Given the description of an element on the screen output the (x, y) to click on. 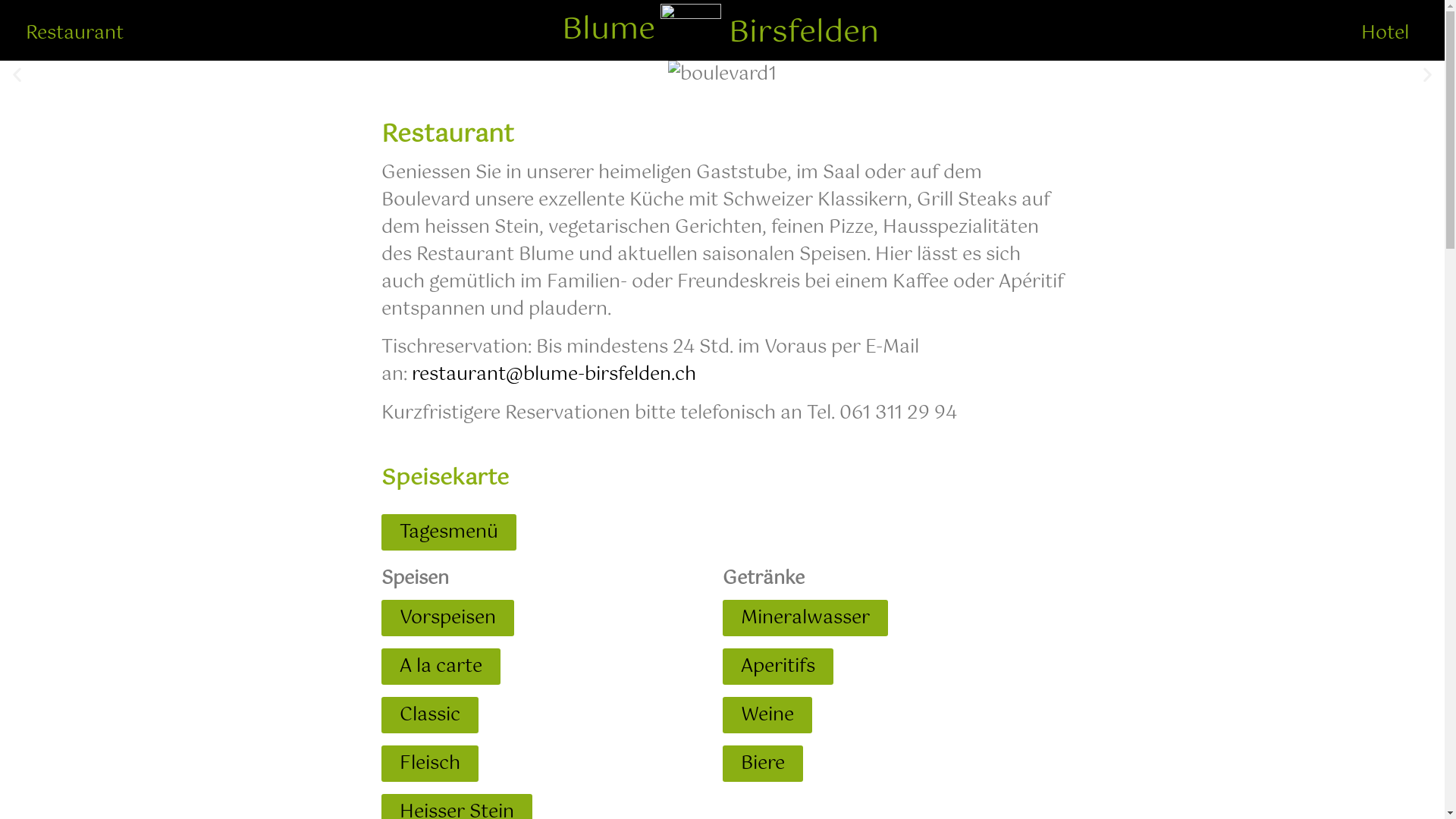
Aperitifs Element type: text (776, 666)
Weine Element type: text (766, 714)
Vorspeisen Element type: text (446, 617)
Classic Element type: text (428, 714)
Mineralwasser Element type: text (804, 617)
A la carte Element type: text (439, 666)
Restaurant Element type: text (74, 33)
Biere Element type: text (761, 763)
Fleisch Element type: text (428, 763)
restaurant@blume-birsfelden.ch Element type: text (553, 374)
Hotel Element type: text (1384, 33)
